Given the description of an element on the screen output the (x, y) to click on. 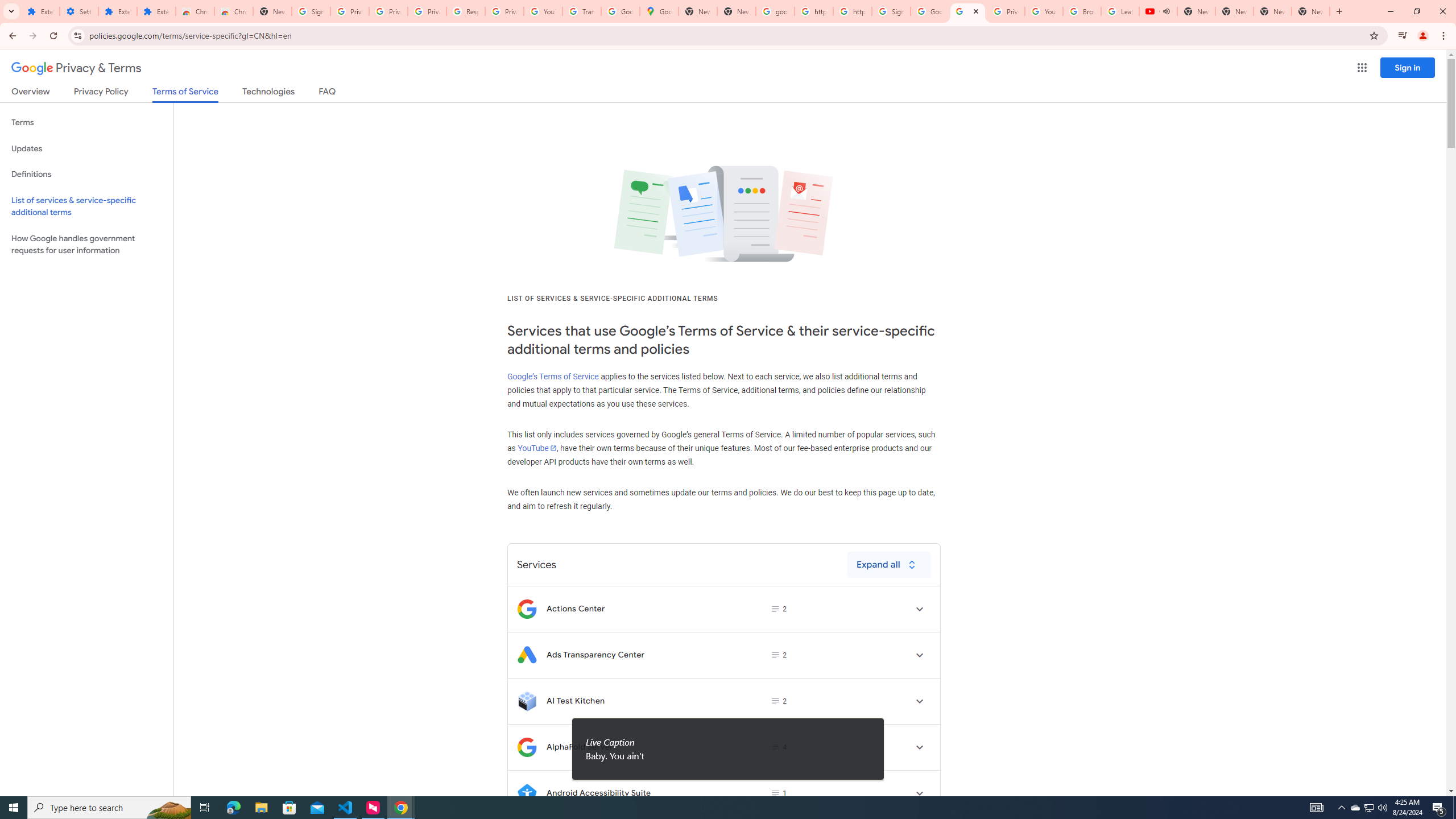
Logo for Ads Transparency Center (526, 654)
How Google handles government requests for user information (86, 244)
YouTube (542, 11)
Sign in - Google Accounts (310, 11)
